Given the description of an element on the screen output the (x, y) to click on. 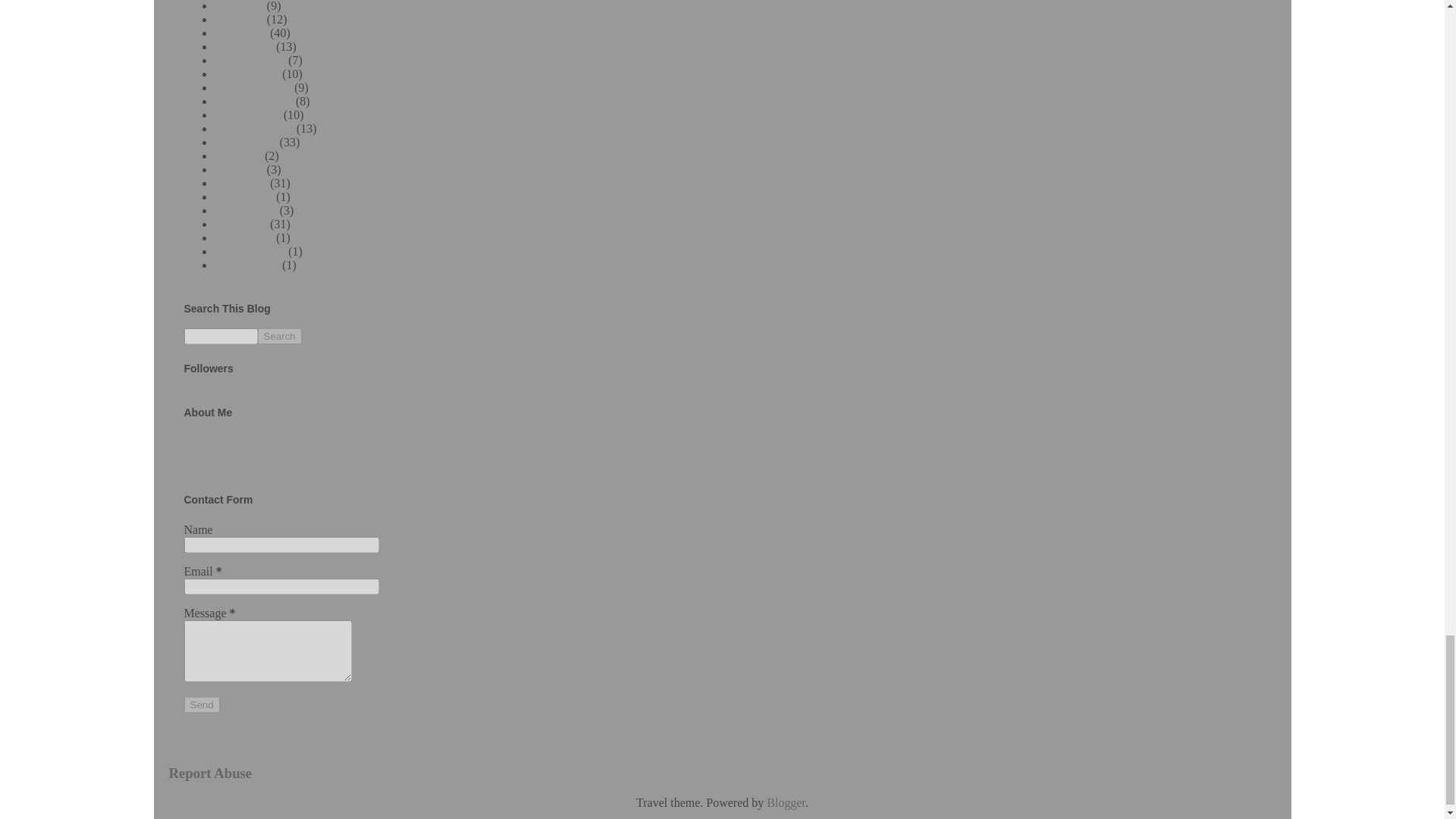
search (279, 335)
Send (201, 704)
Search (279, 335)
Search (279, 335)
search (220, 335)
